Given the description of an element on the screen output the (x, y) to click on. 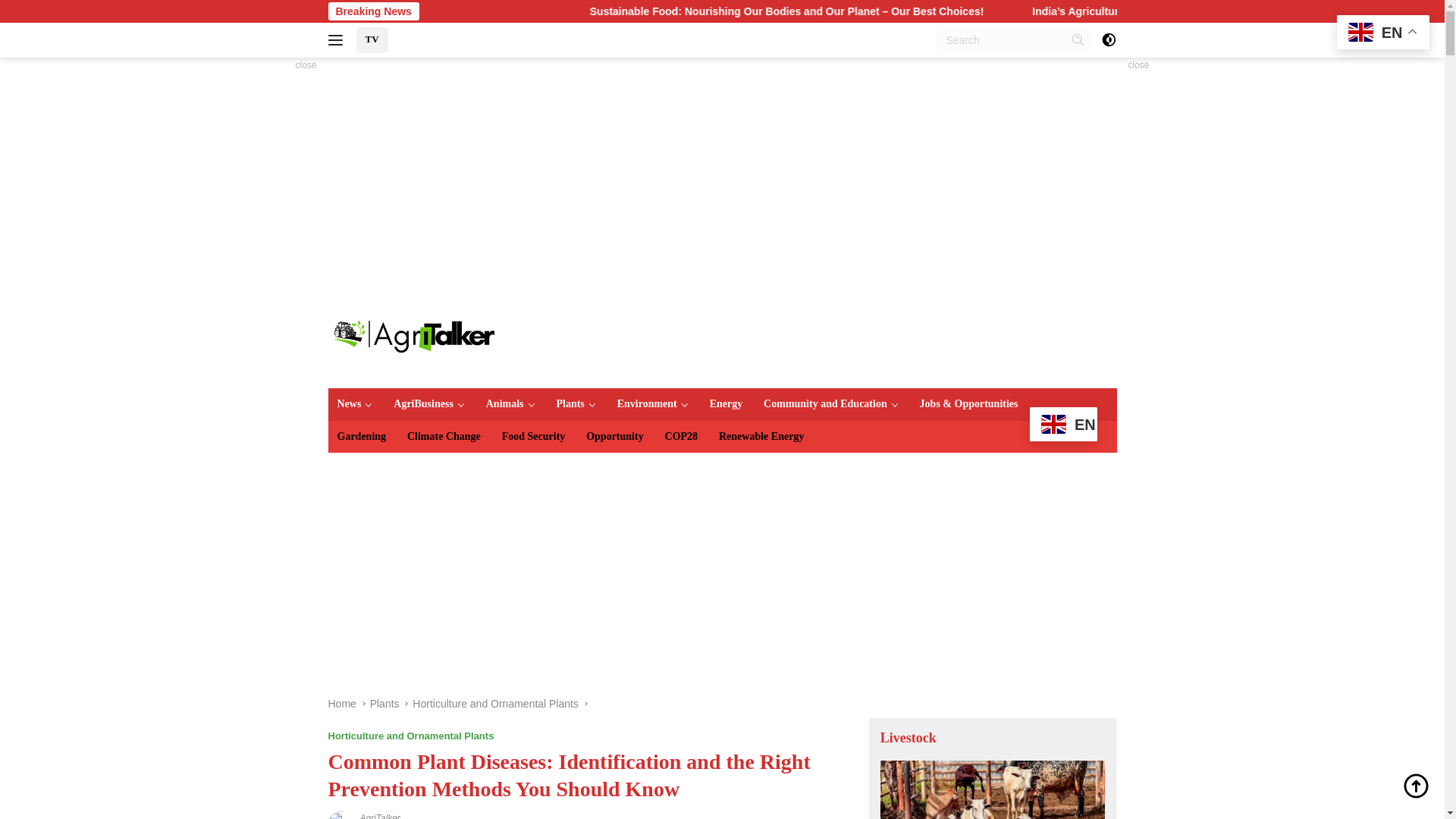
News (354, 404)
close (1138, 65)
close (305, 65)
Animals (510, 404)
TV (372, 40)
close (1138, 65)
Plants (575, 404)
TV (372, 40)
close (305, 65)
AgriBusiness (429, 404)
